Given the description of an element on the screen output the (x, y) to click on. 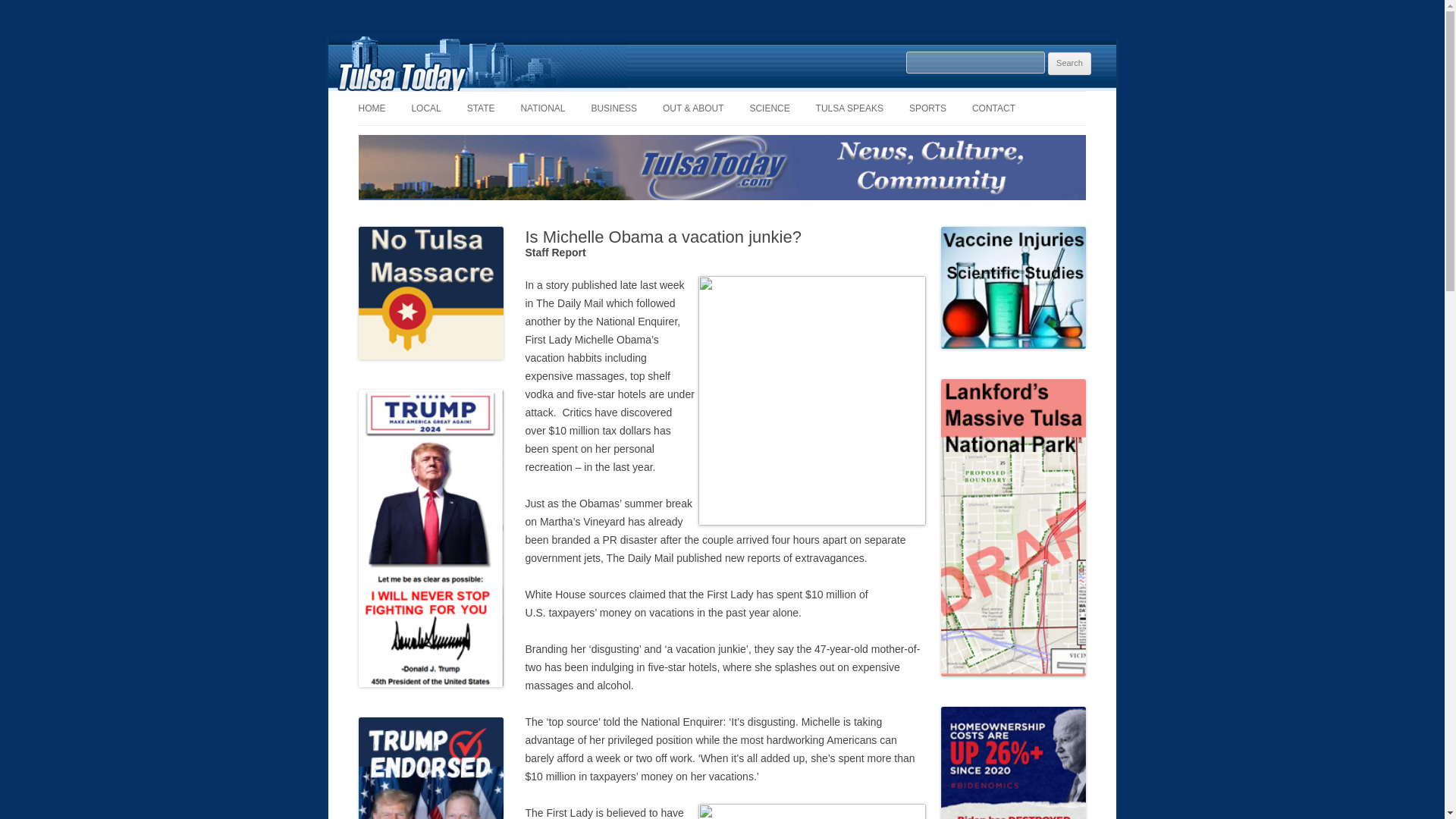
BUSINESS (614, 108)
Search (1069, 63)
Skip to content (757, 95)
Skip to content (757, 95)
TULSA SPEAKS (849, 108)
NATIONAL (541, 108)
SPORTS (927, 108)
Search (1069, 63)
CONTACT (993, 108)
SCIENCE (769, 108)
